Given the description of an element on the screen output the (x, y) to click on. 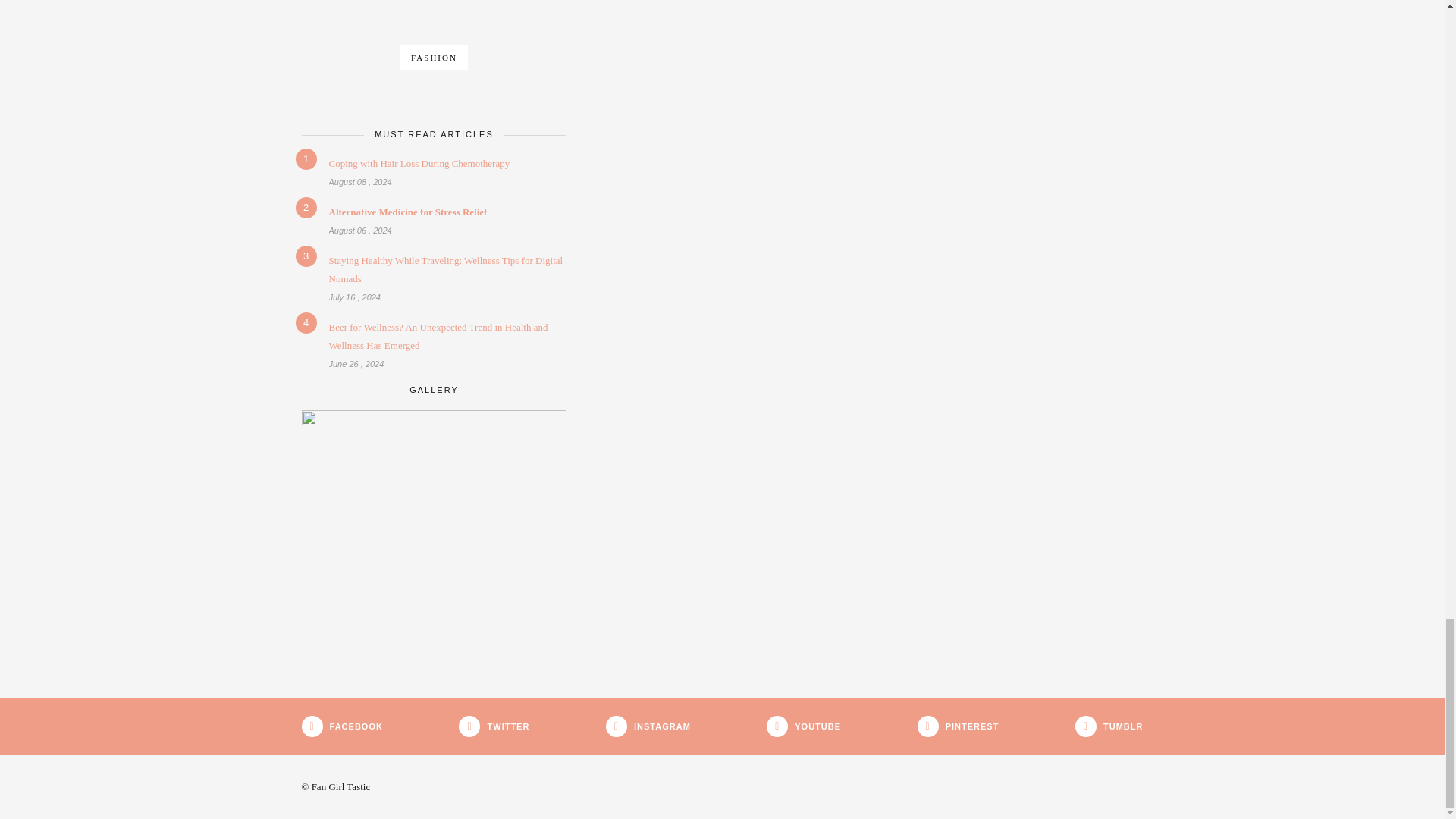
FACEBOOK (341, 726)
YOUTUBE (804, 726)
FASHION (434, 60)
INSTAGRAM (434, 172)
TUMBLR (434, 221)
PINTEREST (647, 726)
